Given the description of an element on the screen output the (x, y) to click on. 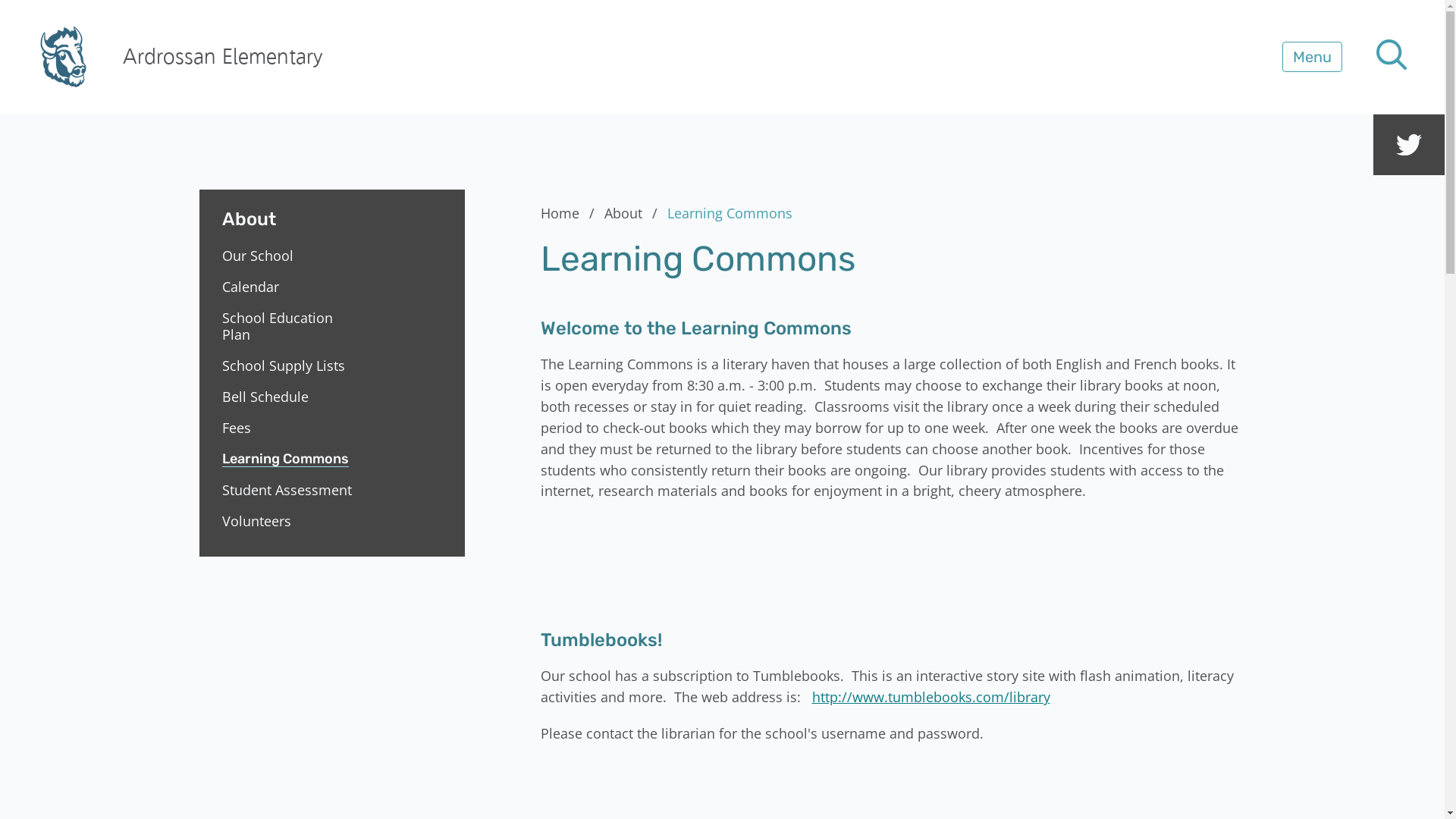
Learning Commons Element type: text (287, 458)
home Element type: hover (63, 56)
Our School Element type: text (287, 255)
Menu Element type: text (1312, 56)
About Element type: text (331, 209)
Calendar Element type: text (287, 286)
Bell Schedule Element type: text (287, 396)
School Supply Lists Element type: text (287, 365)
Search Element type: text (45, 19)
School Education Plan Element type: text (287, 326)
Home Element type: text (569, 212)
http://www.tumblebooks.com/library Element type: text (930, 696)
Volunteers Element type: text (287, 520)
Student Assessment Element type: text (287, 489)
Ardrossan Elementary's Twitter Element type: hover (1408, 144)
Fees Element type: text (287, 427)
About Element type: text (632, 212)
